Given the description of an element on the screen output the (x, y) to click on. 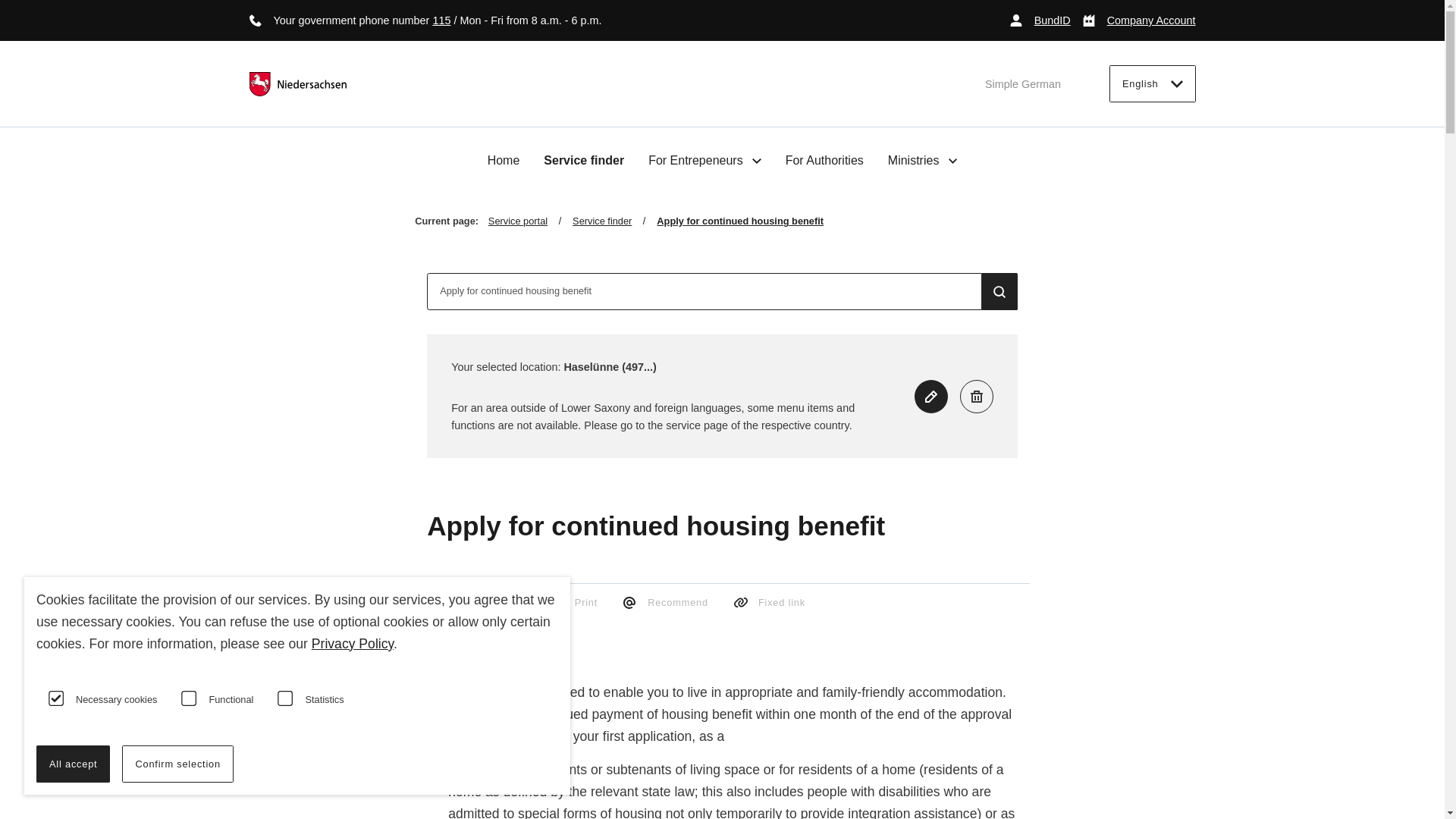
webReader menu (434, 631)
Service portal (529, 221)
Confirm selection (177, 763)
115 (440, 20)
Home (503, 160)
English (1152, 83)
Delete location entry (975, 396)
Privacy Policy (352, 642)
For Entrepeneurs (704, 160)
Go to service portal home page (297, 84)
All accept (73, 763)
For Authorities (824, 160)
Company Account (1139, 20)
BundID (1040, 20)
Service finder (583, 160)
